Given the description of an element on the screen output the (x, y) to click on. 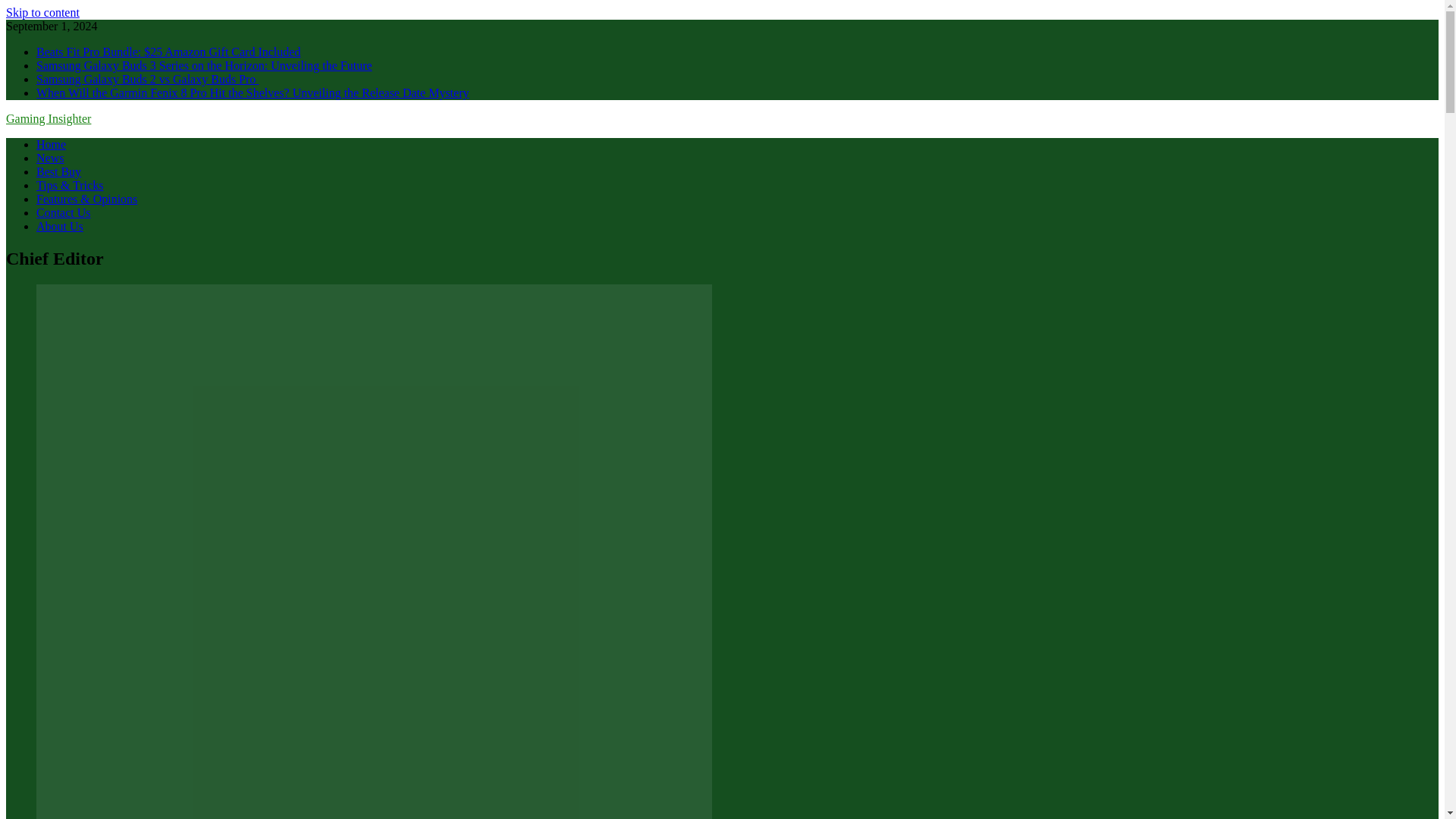
News (50, 157)
About Us (59, 226)
Skip to content (42, 11)
Best Buy (58, 171)
Contact Us (63, 212)
Gaming Insighter (47, 118)
